Given the description of an element on the screen output the (x, y) to click on. 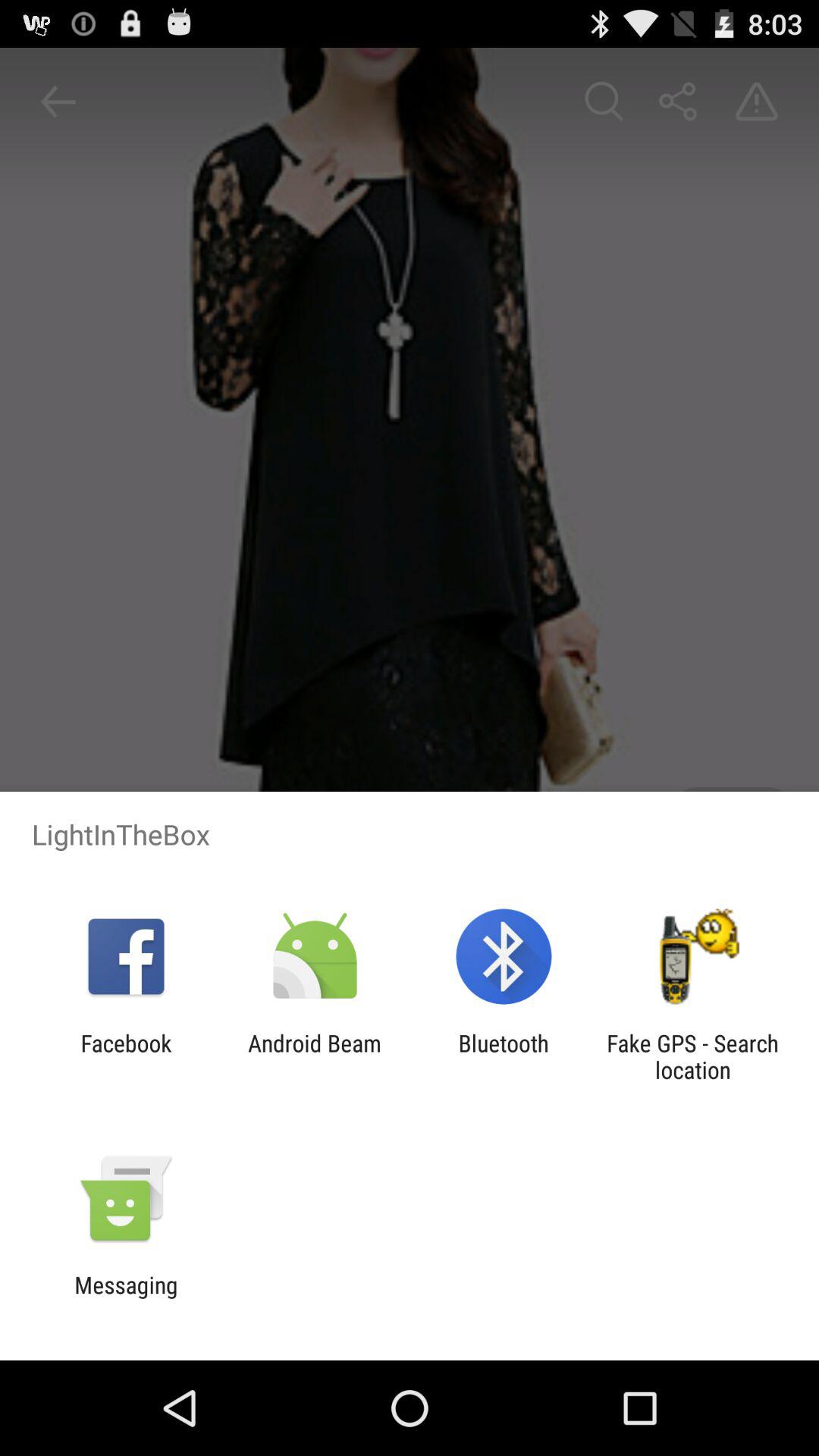
choose the fake gps search (692, 1056)
